Given the description of an element on the screen output the (x, y) to click on. 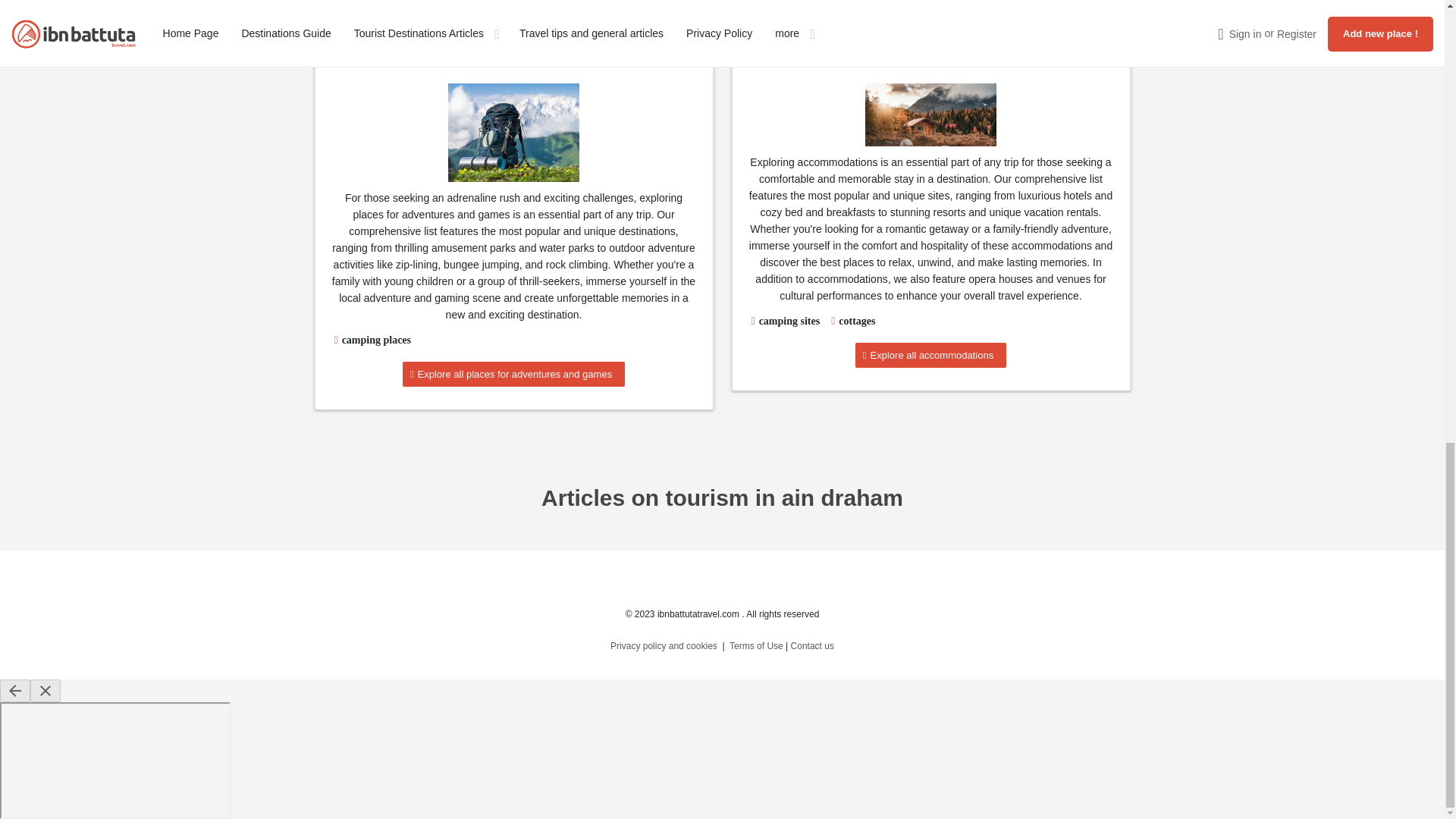
camping sites (789, 320)
camping places (375, 339)
Privacy policy and cookies (663, 645)
Explore all accommodations (931, 355)
places for adventures and games (513, 132)
cottages (856, 320)
Explore all places for adventures and games (513, 373)
accommodations (929, 114)
Terms of Use (756, 645)
